Given the description of an element on the screen output the (x, y) to click on. 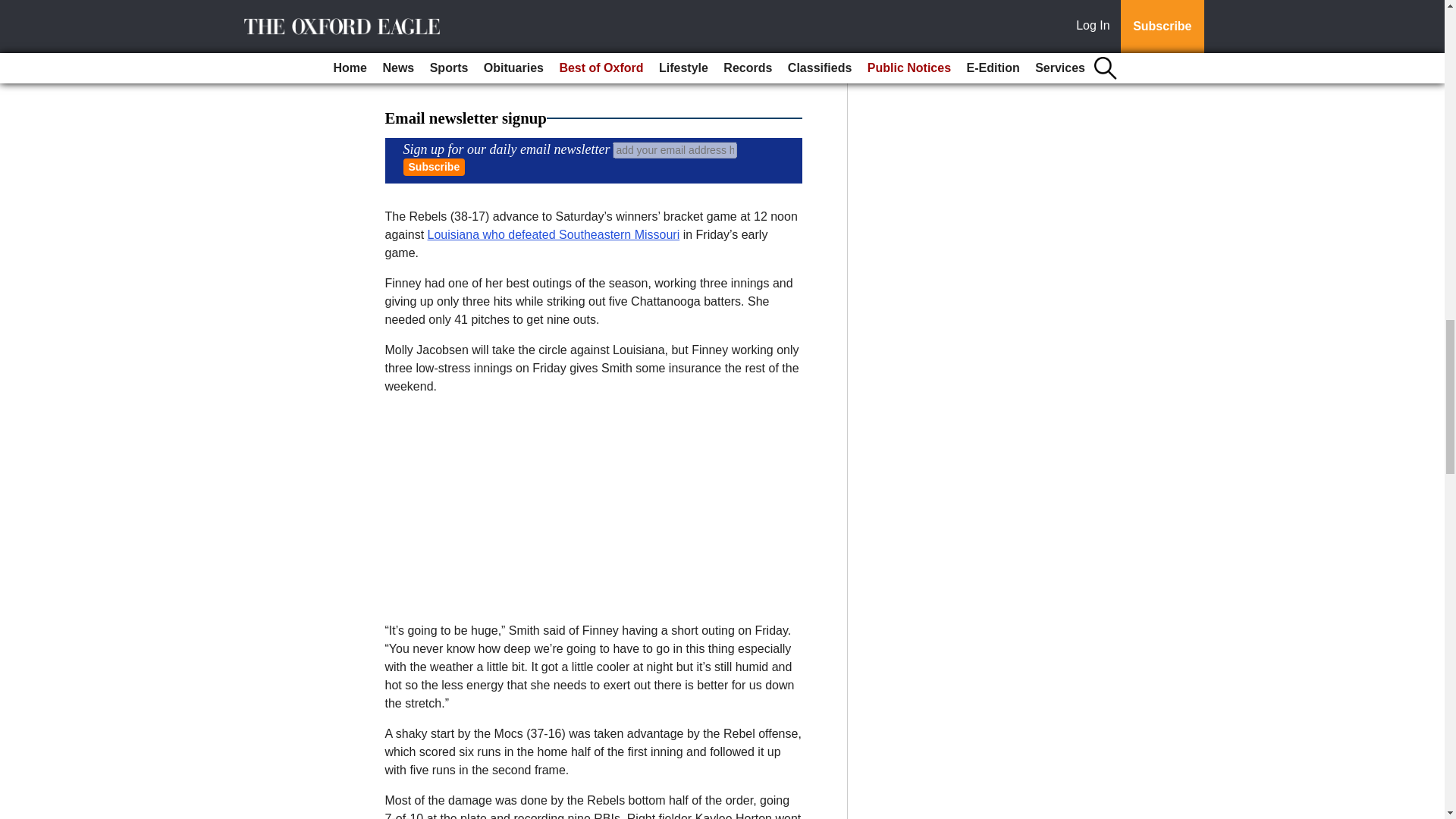
Subscribe (434, 167)
Subscribe (434, 167)
Louisiana who defeated Southeastern Missouri (553, 234)
